Given the description of an element on the screen output the (x, y) to click on. 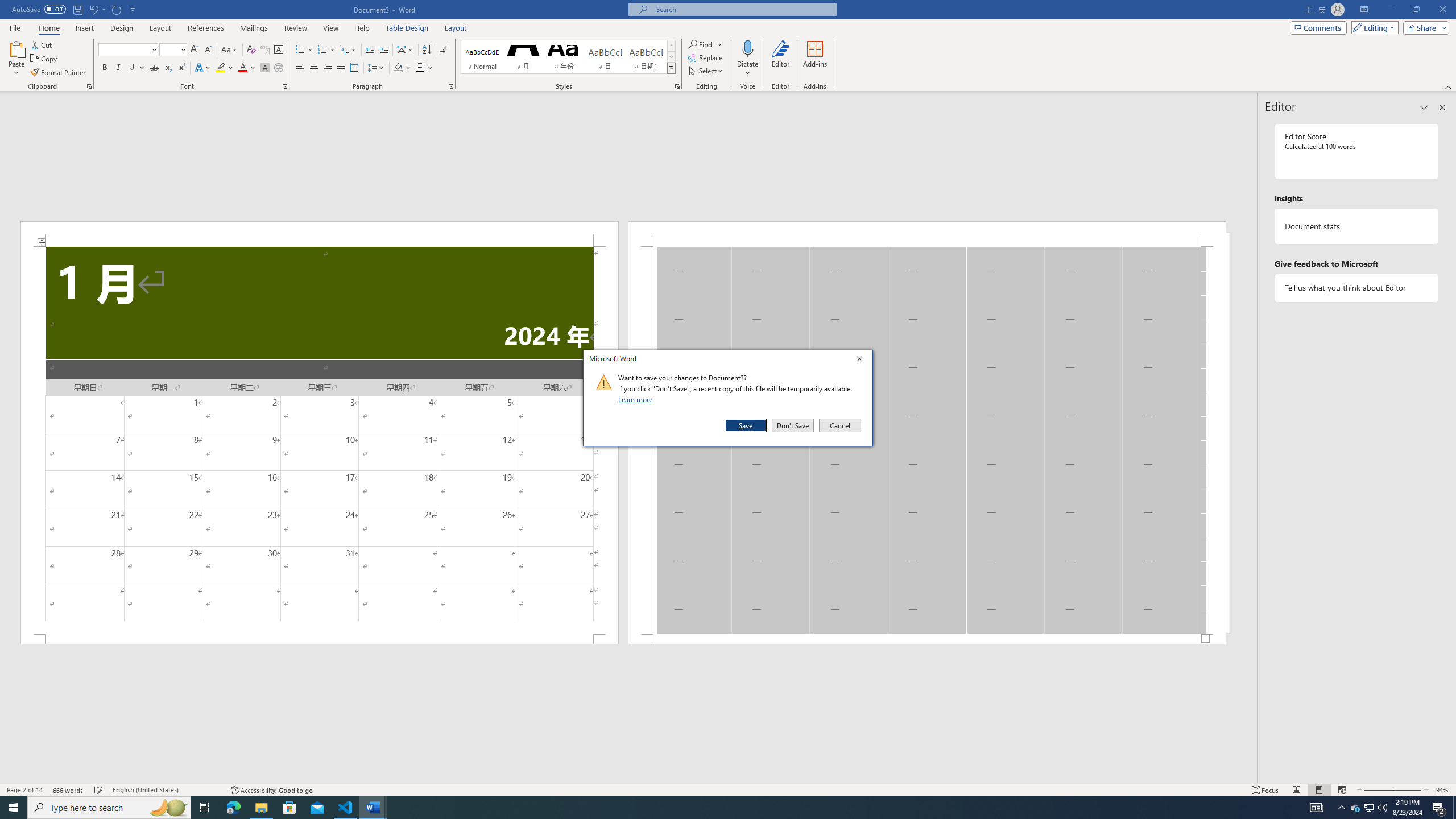
Distributed (354, 67)
Row Down (670, 56)
Sort... (426, 49)
Office Clipboard... (88, 85)
Language English (United States) (165, 790)
Action Center, 2 new notifications (1439, 807)
